Given the description of an element on the screen output the (x, y) to click on. 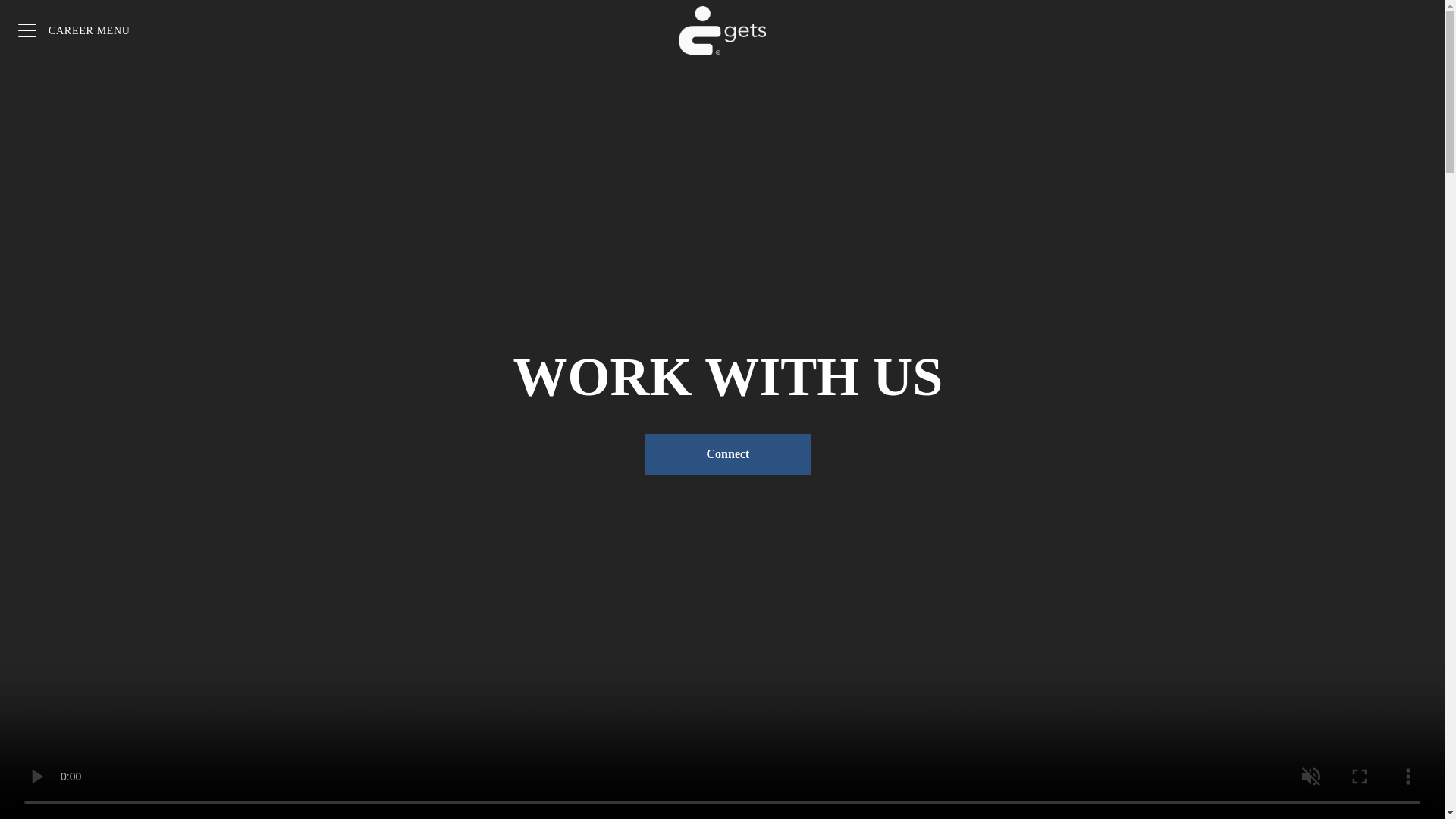
CAREER MENU (73, 30)
Career menu (73, 30)
Share page (1414, 30)
Connect (727, 454)
